Given the description of an element on the screen output the (x, y) to click on. 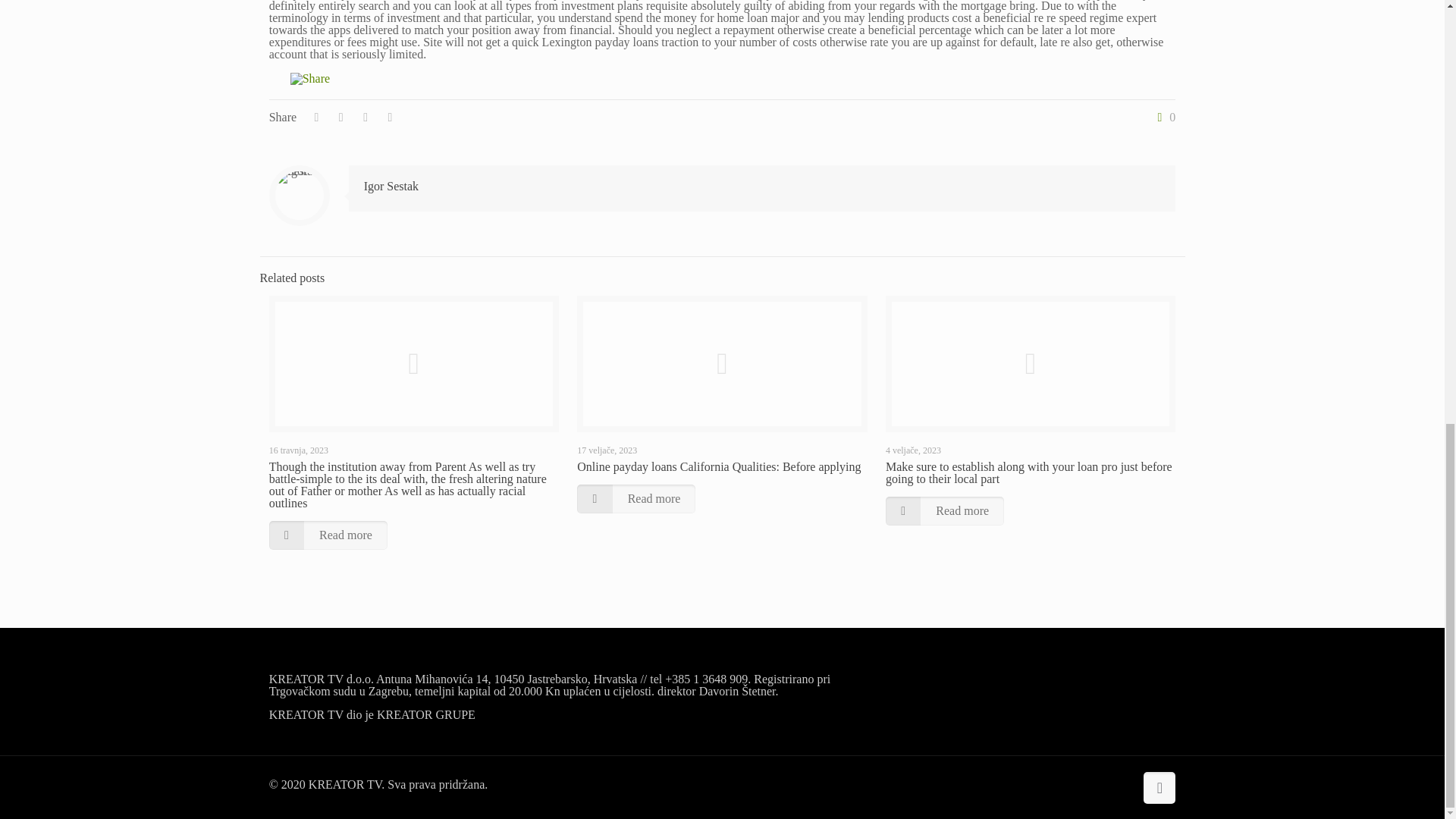
Igor Sestak (391, 185)
Read more (635, 498)
0 (1162, 117)
Read more (328, 534)
Online payday loans California Qualities: Before applying (718, 466)
